Given the description of an element on the screen output the (x, y) to click on. 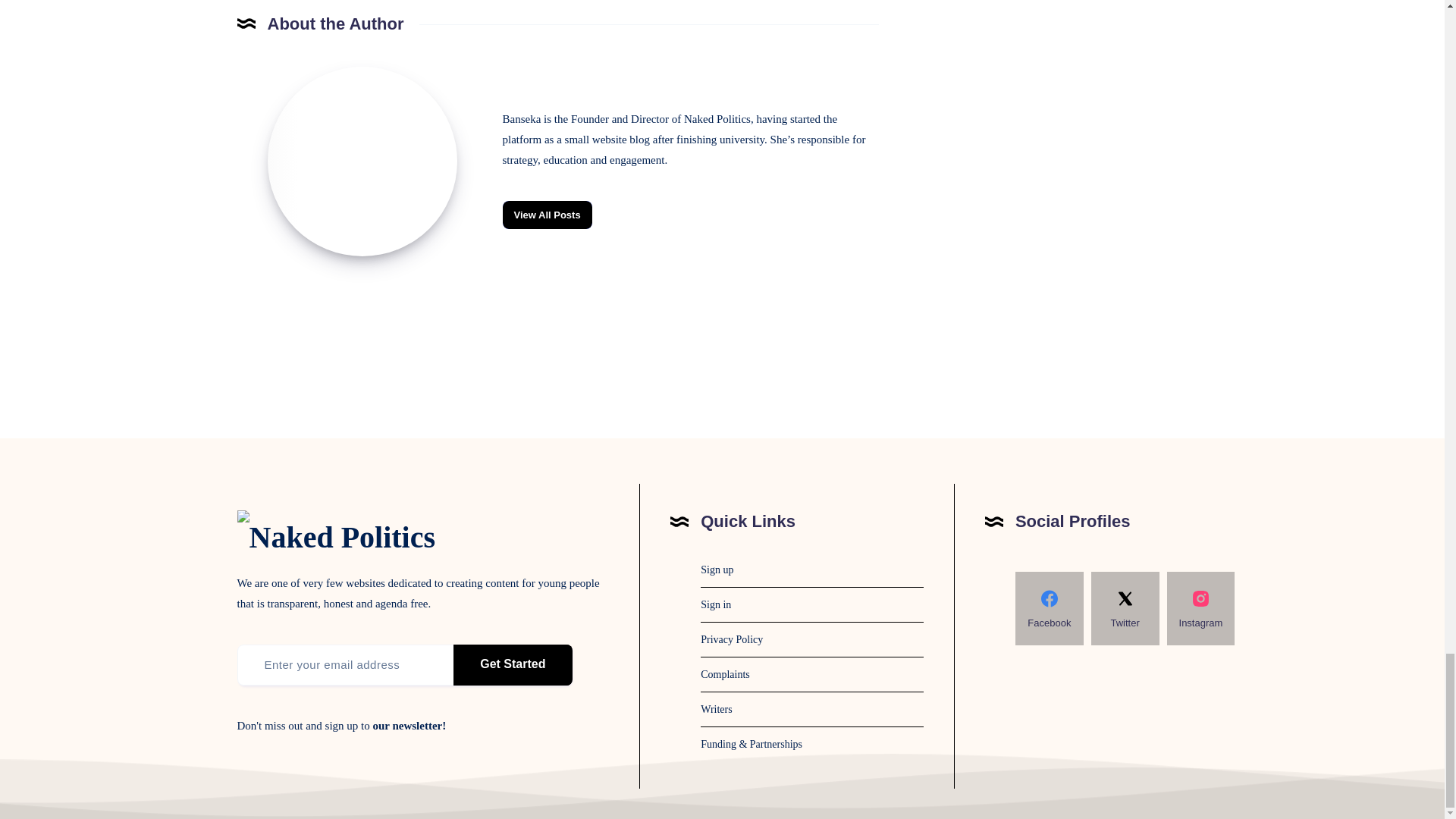
View All Posts (546, 214)
Sign up (716, 569)
Complaints (724, 674)
Sign in (715, 604)
Privacy Policy (731, 639)
Get Started (512, 664)
